Given the description of an element on the screen output the (x, y) to click on. 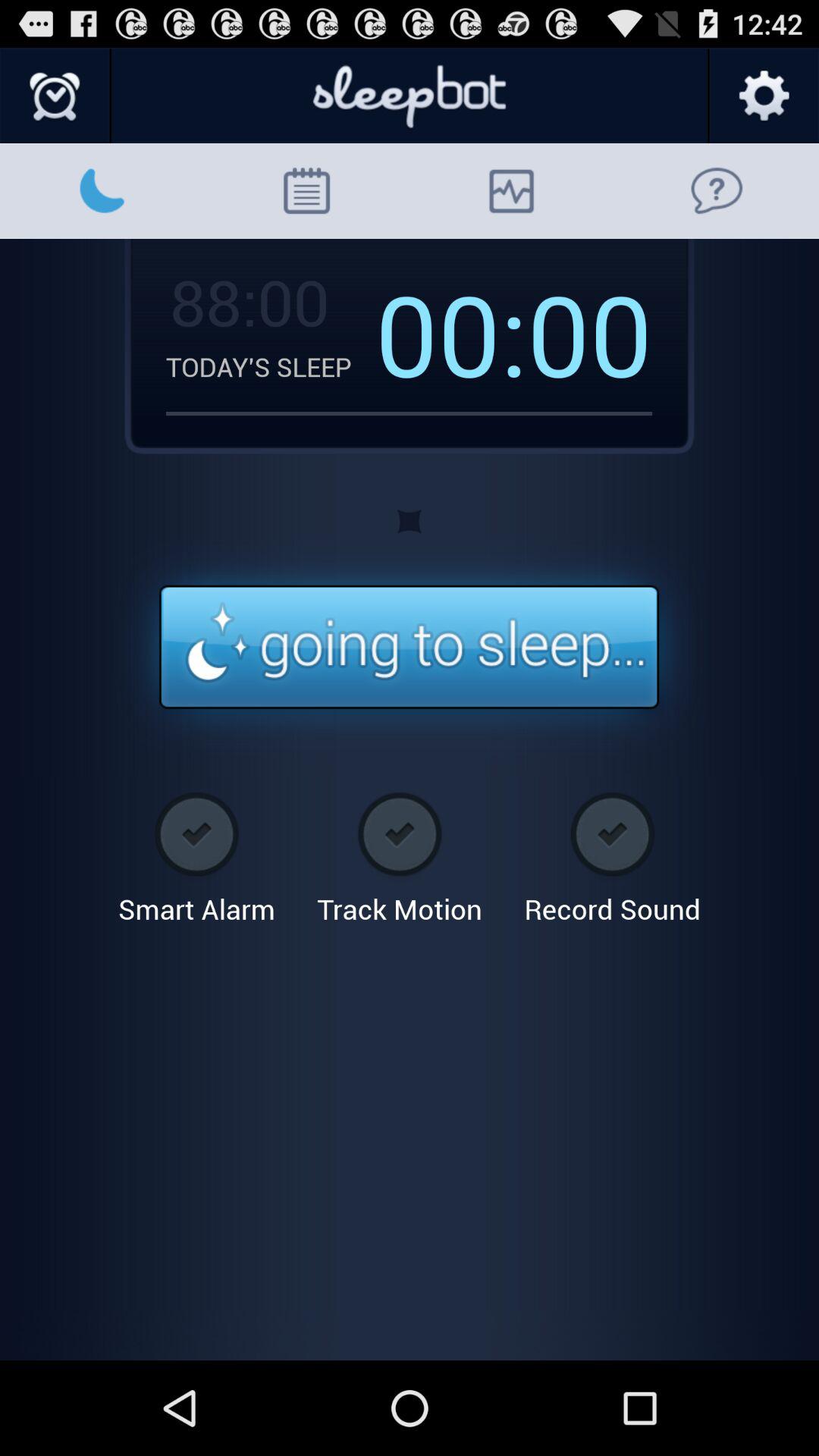
turn on the smart alarm icon (196, 852)
